Given the description of an element on the screen output the (x, y) to click on. 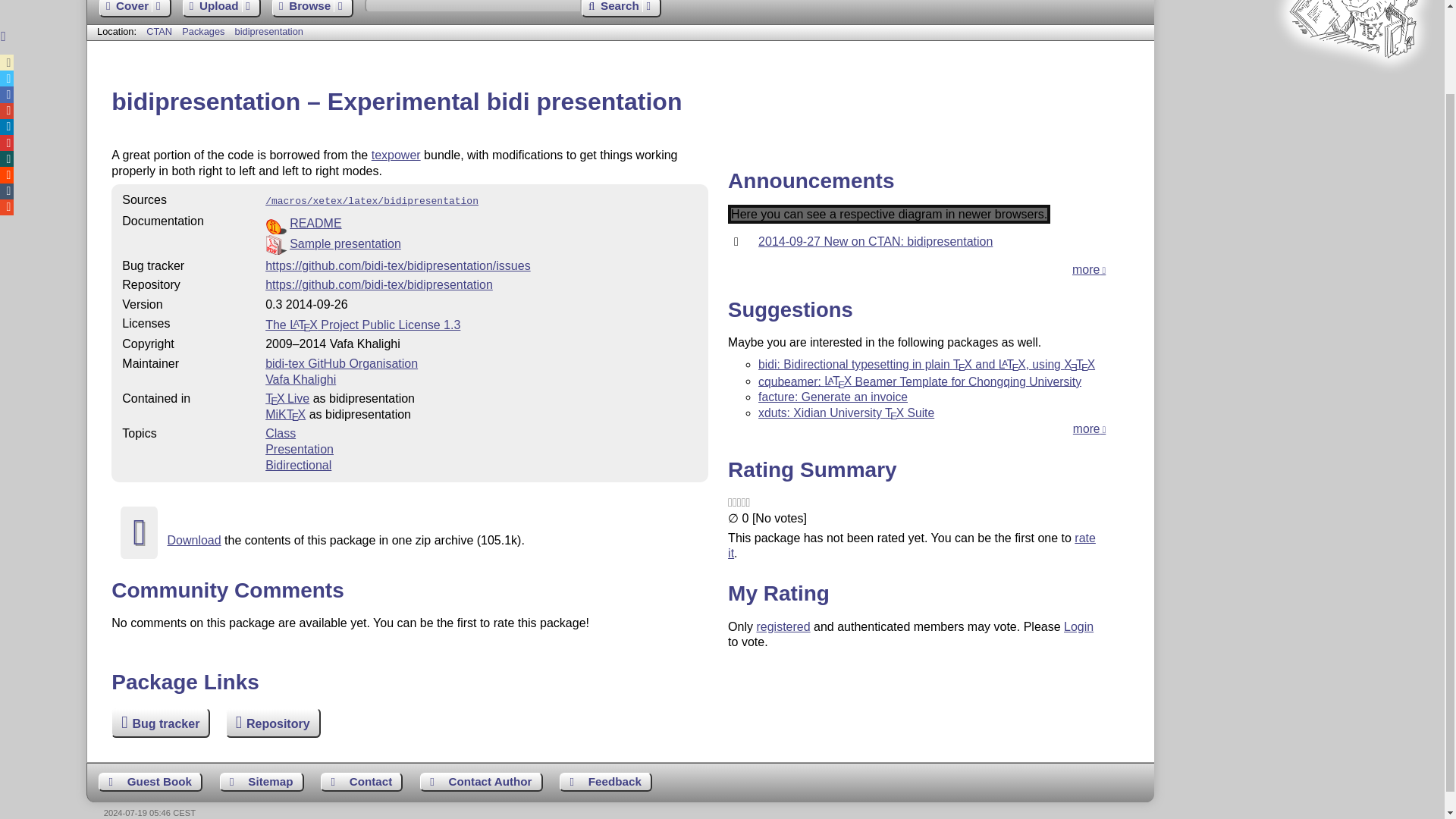
Portable Document Format (480, 244)
Cover (134, 8)
Send feedback on the current web page to the Web masters (605, 782)
Get contact information for the Web site (361, 782)
Leave some words for other visitors (150, 782)
The LATEX Project Public License 1.3 (362, 324)
bidipresentation (268, 30)
Browse (312, 8)
Get help on how to contact an author (481, 782)
Show the structure of this site (261, 782)
Upload (221, 8)
Packages (204, 30)
Read Me file (480, 223)
CTAN lion drawing by Duane Bibby (1353, 86)
CTAN (159, 30)
